Given the description of an element on the screen output the (x, y) to click on. 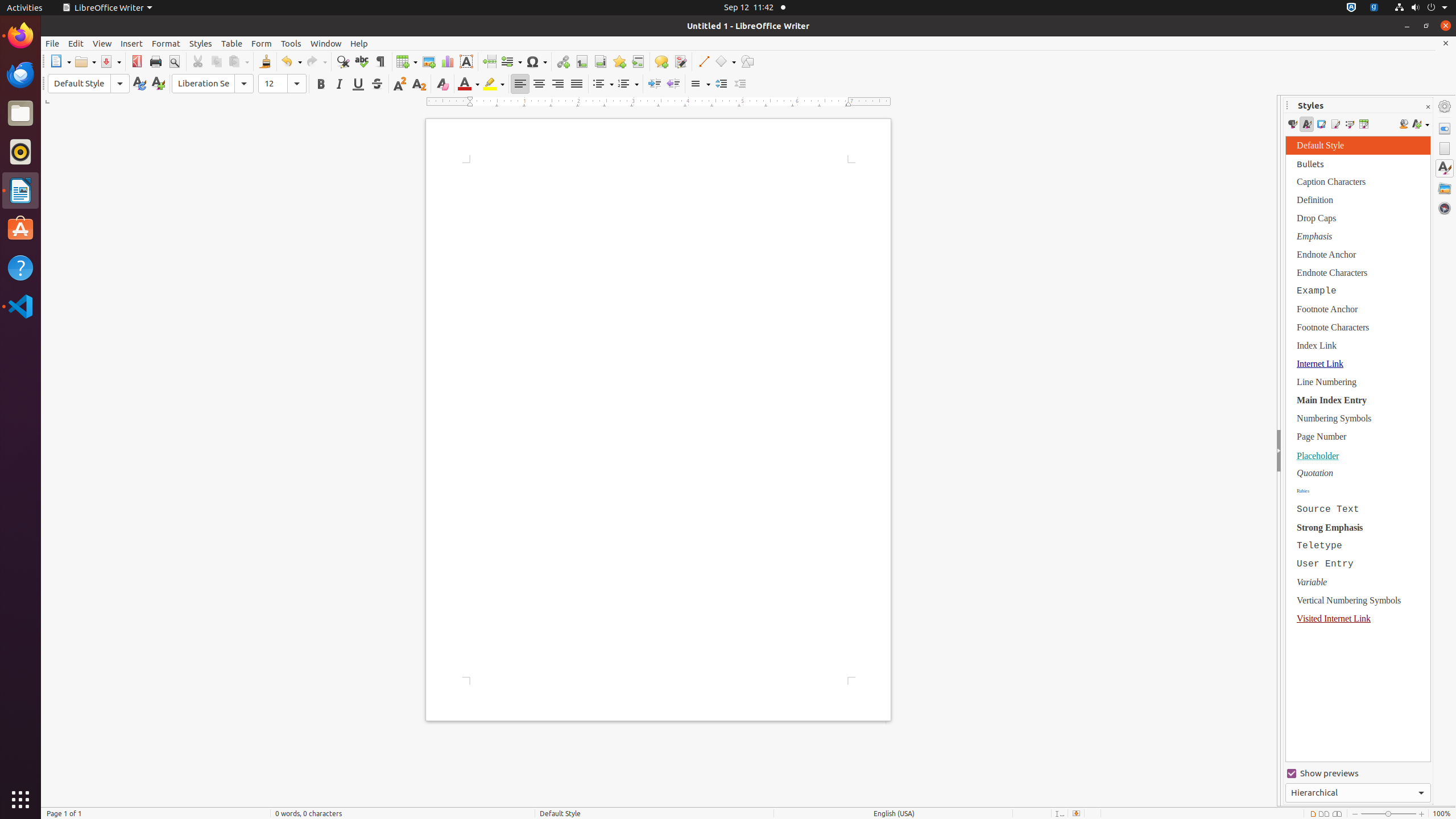
Line Element type: toggle-button (702, 61)
Show Applications Element type: toggle-button (20, 799)
Font Name Element type: combo-box (212, 83)
Bookmark Element type: push-button (618, 61)
Table Element type: push-button (406, 61)
